Given the description of an element on the screen output the (x, y) to click on. 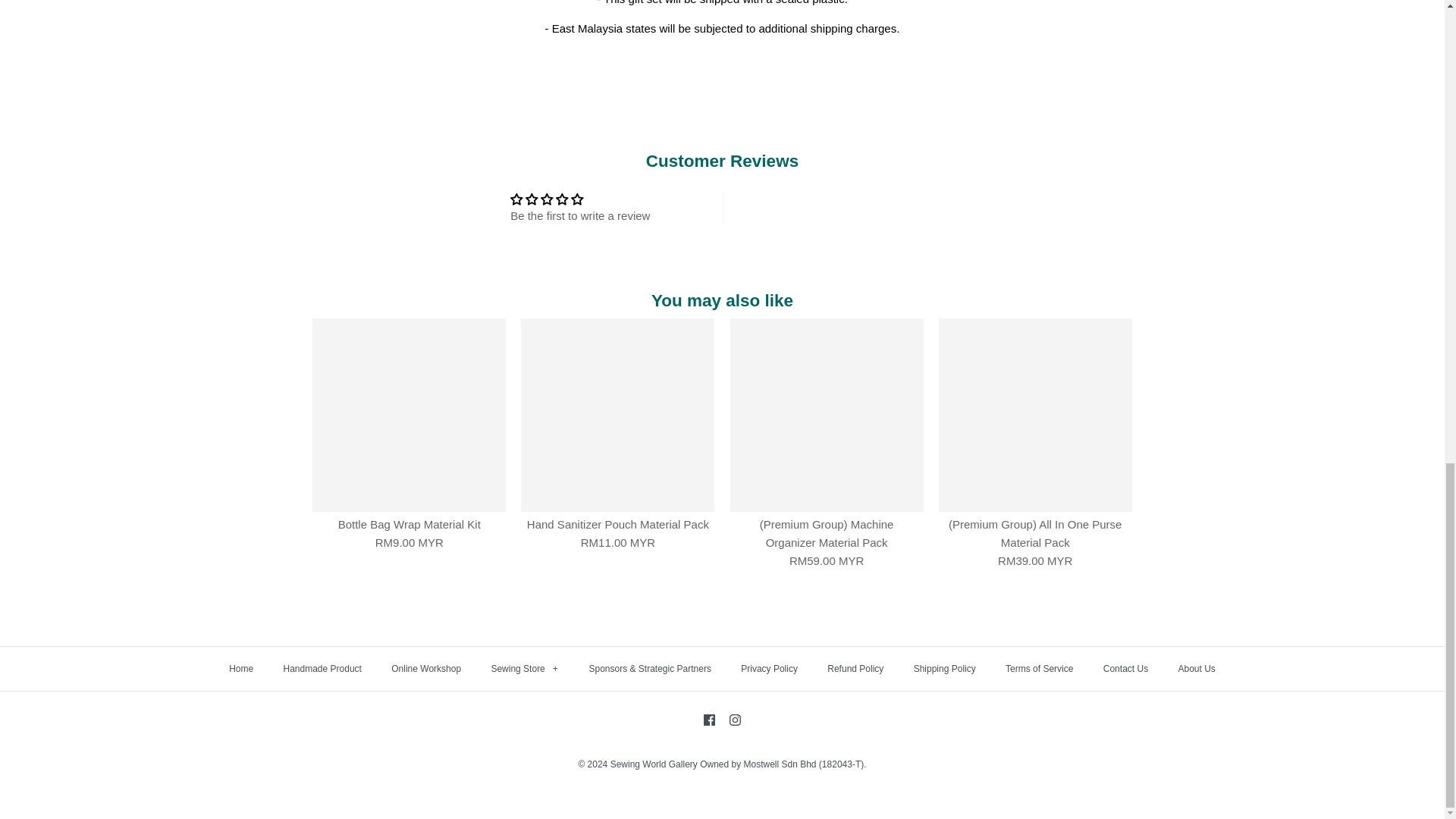
Facebook (708, 719)
Facebook (708, 719)
Instagram (735, 719)
Instagram (735, 719)
